Given the description of an element on the screen output the (x, y) to click on. 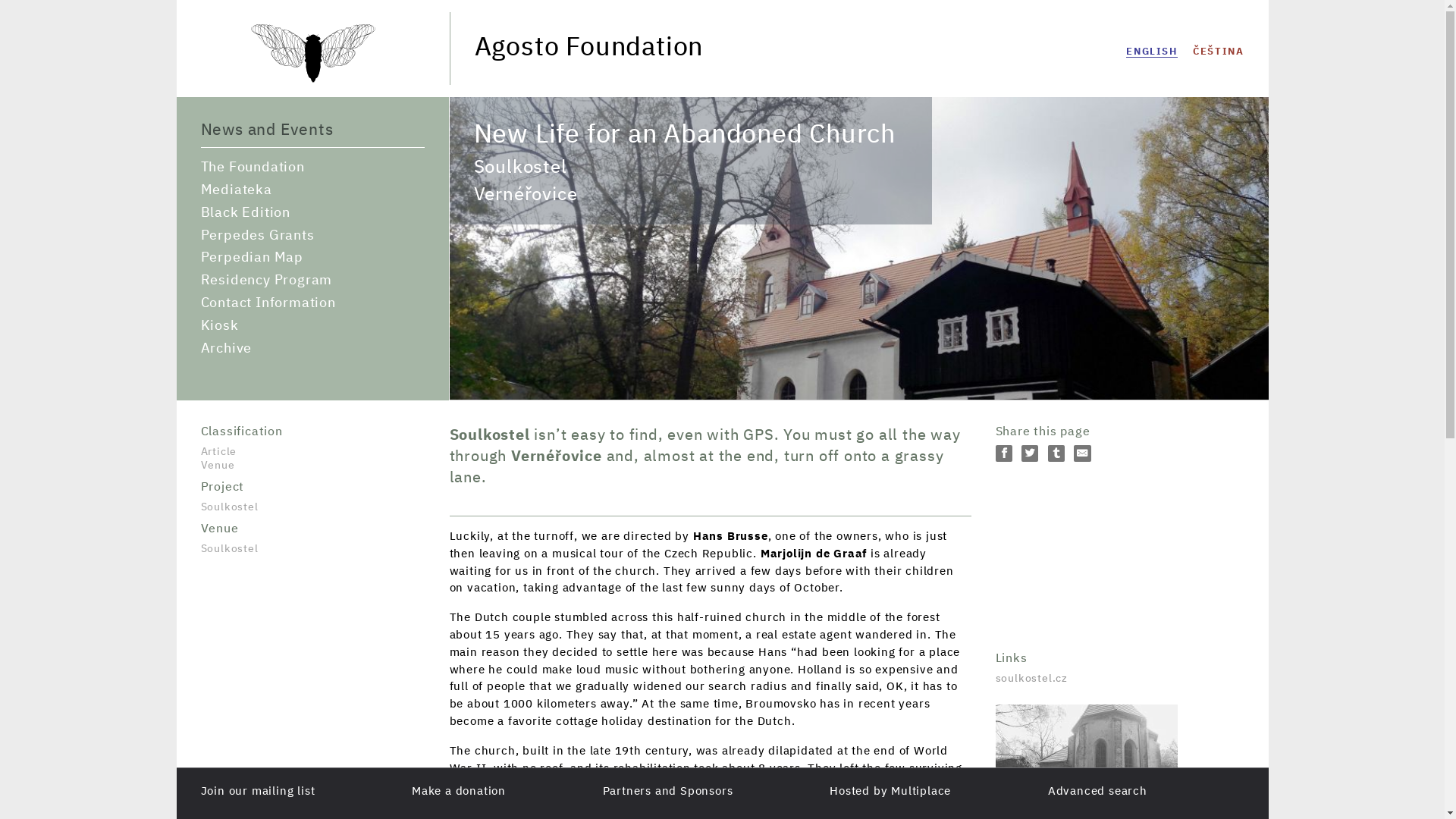
The Foundation (311, 167)
Venue (312, 465)
New Life for an Abandoned Church (1150, 51)
Soulkostel (312, 493)
Contact Information (311, 303)
Kiosk (311, 325)
Home (312, 79)
Mediateka (311, 190)
Make a donation (458, 790)
Archive (311, 348)
